Given the description of an element on the screen output the (x, y) to click on. 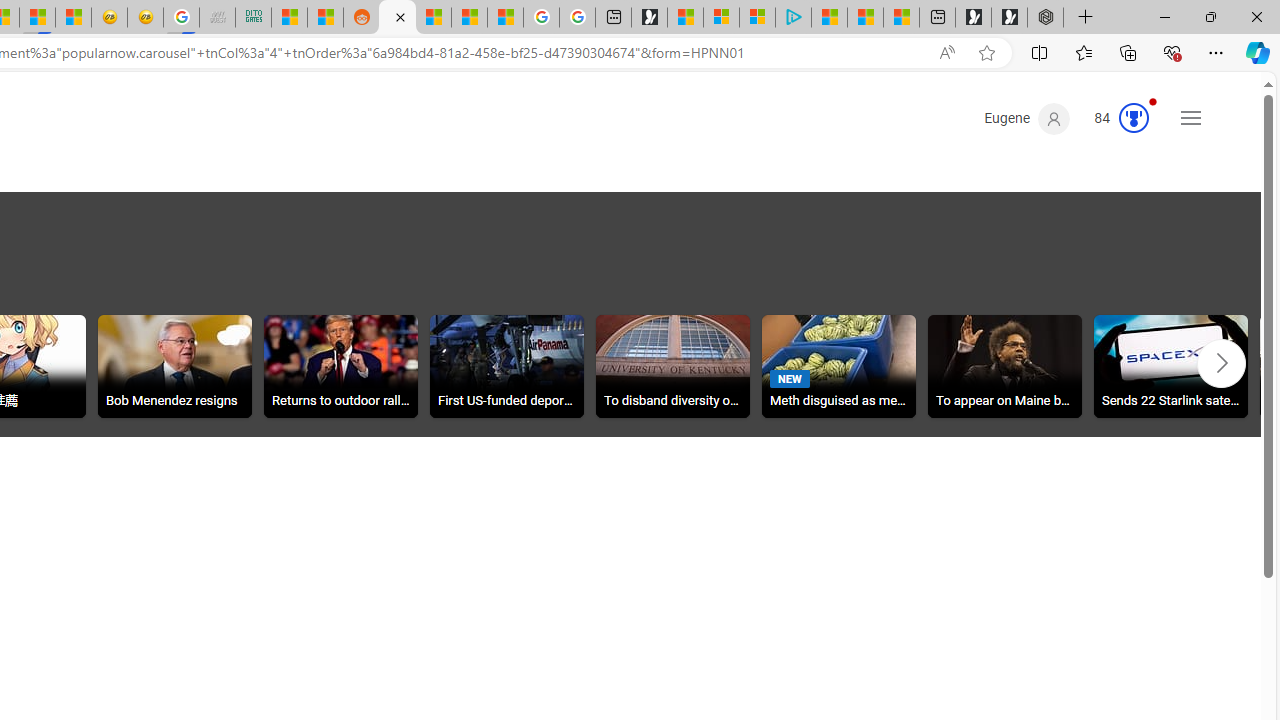
AutomationID: serp_medal_svg (1133, 117)
Animation (1153, 101)
Bob Menendez resigns (175, 365)
Microsoft Rewards 84 (1115, 119)
Sends 22 Starlink satellites (1171, 365)
